Given the description of an element on the screen output the (x, y) to click on. 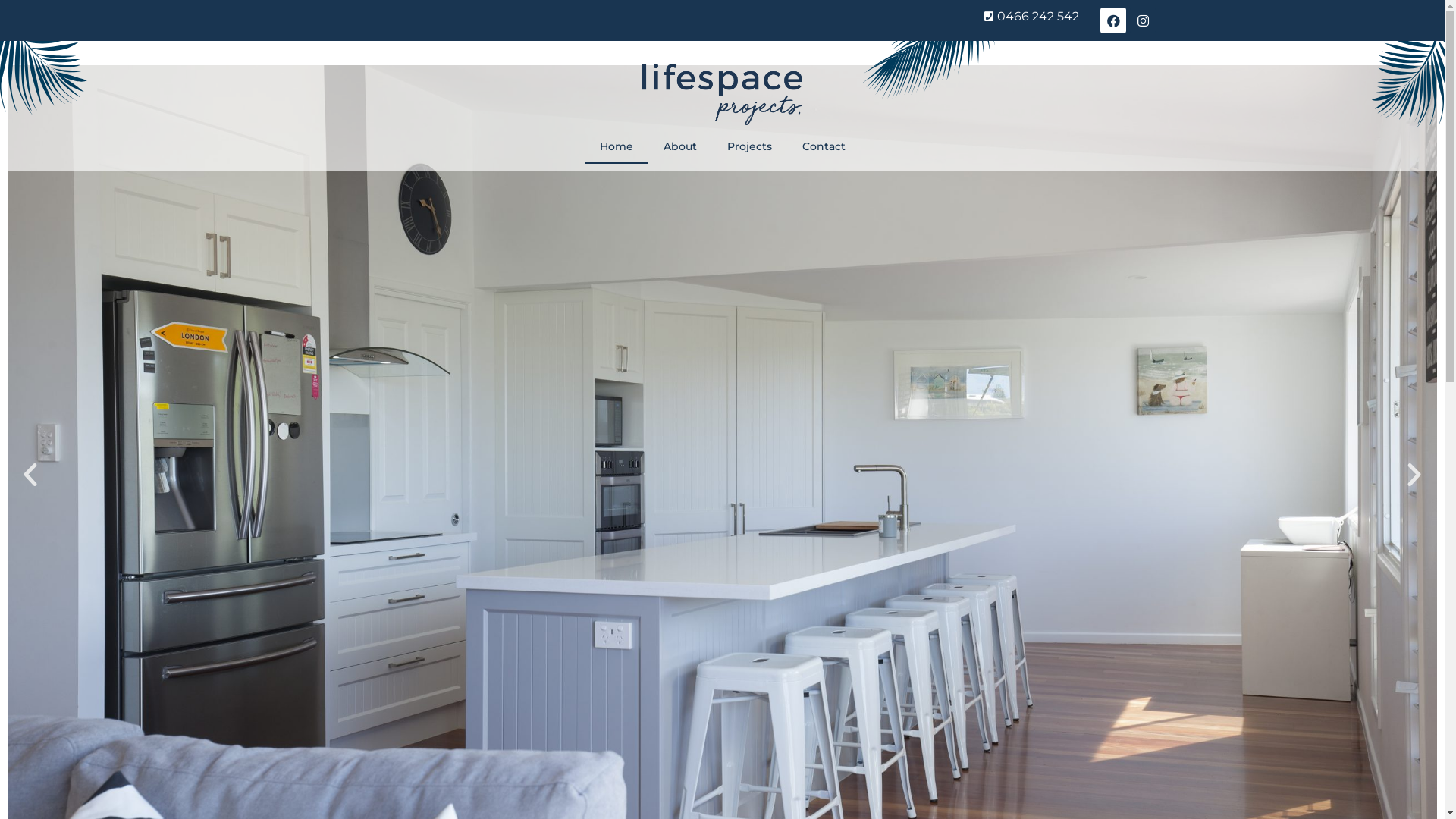
0466 242 542 Element type: text (682, 16)
Contact Element type: text (823, 145)
Home Element type: text (615, 145)
Projects Element type: text (748, 145)
About Element type: text (679, 145)
